Given the description of an element on the screen output the (x, y) to click on. 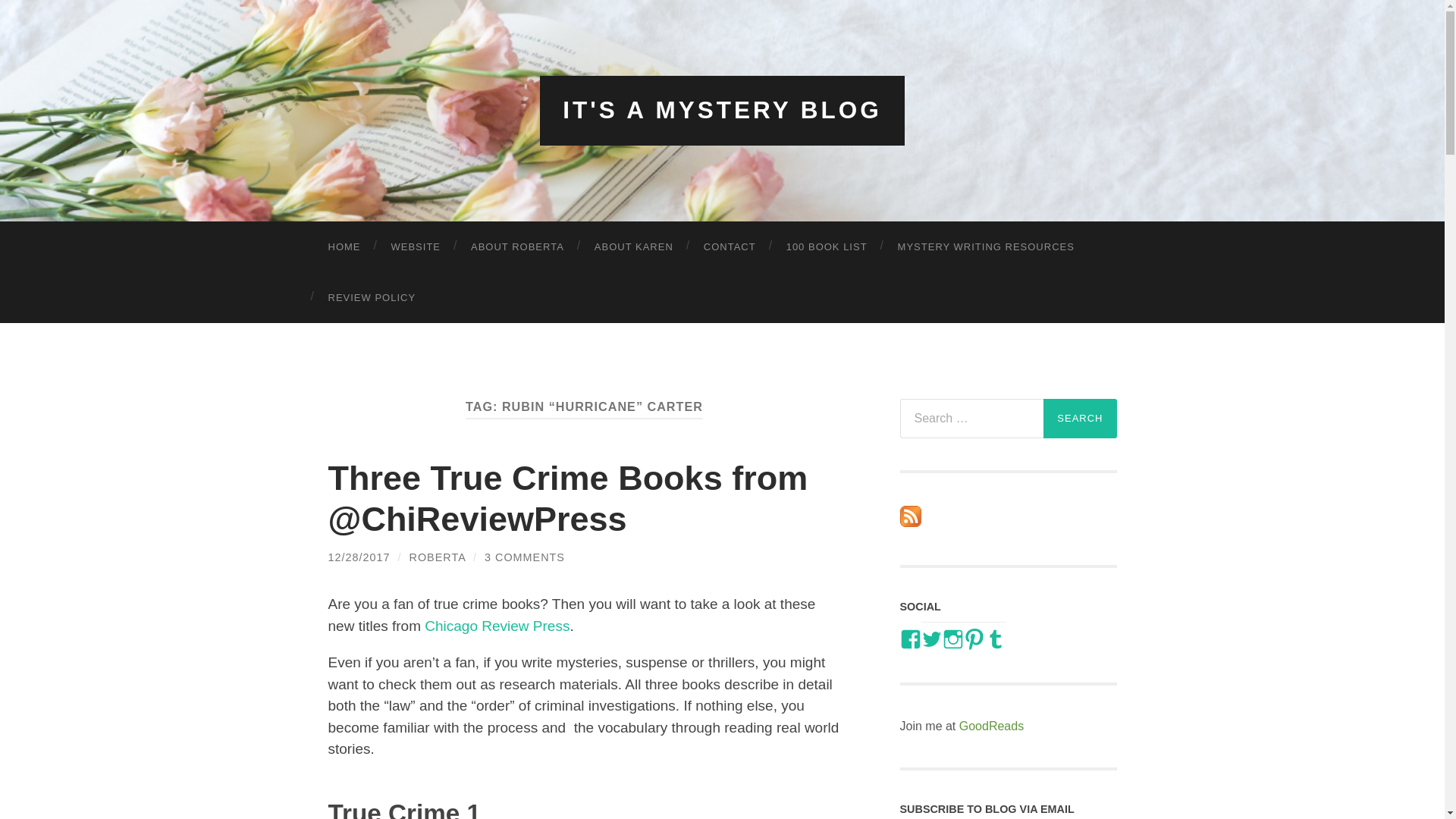
ABOUT KAREN (633, 246)
Instagram (952, 639)
Search (1079, 418)
HOME (344, 246)
100 BOOK LIST (826, 246)
Tumblr (995, 639)
3 COMMENTS (524, 557)
IT'S A MYSTERY BLOG (722, 109)
Search (1079, 418)
Search (1079, 418)
